Given the description of an element on the screen output the (x, y) to click on. 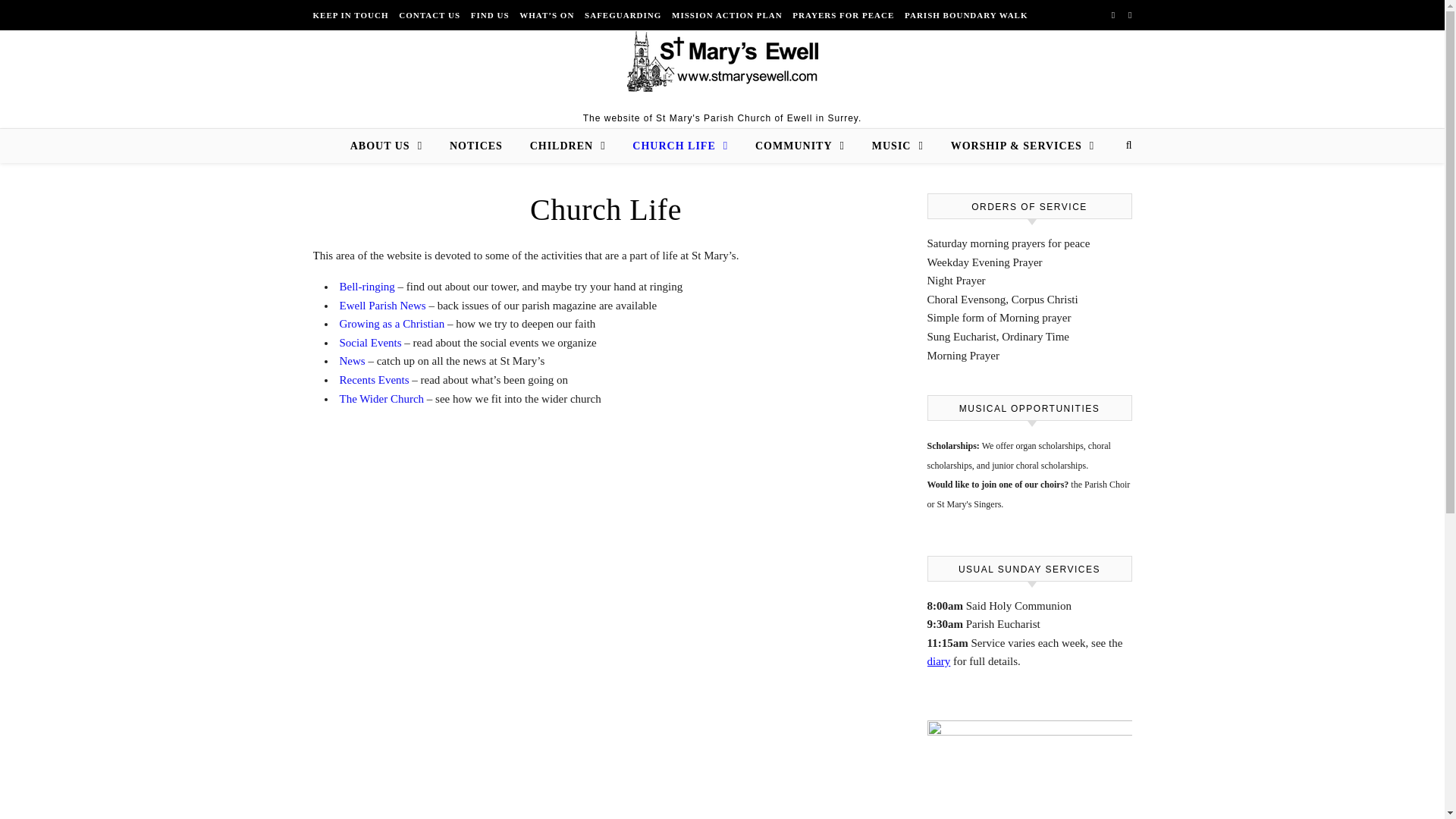
CHILDREN (567, 145)
MUSIC (898, 145)
St Mary's Ewell (721, 61)
MISSION ACTION PLAN (727, 15)
PARISH BOUNDARY WALK (964, 15)
ABOUT US (391, 145)
NOTICES (476, 145)
FIND US (490, 15)
KEEP IN TOUCH (352, 15)
The Wider Church (382, 398)
Growing as a Christian (392, 323)
CHURCH LIFE (679, 145)
Recent Events (374, 379)
Bell-ringing (366, 286)
COMMUNITY (799, 145)
